Given the description of an element on the screen output the (x, y) to click on. 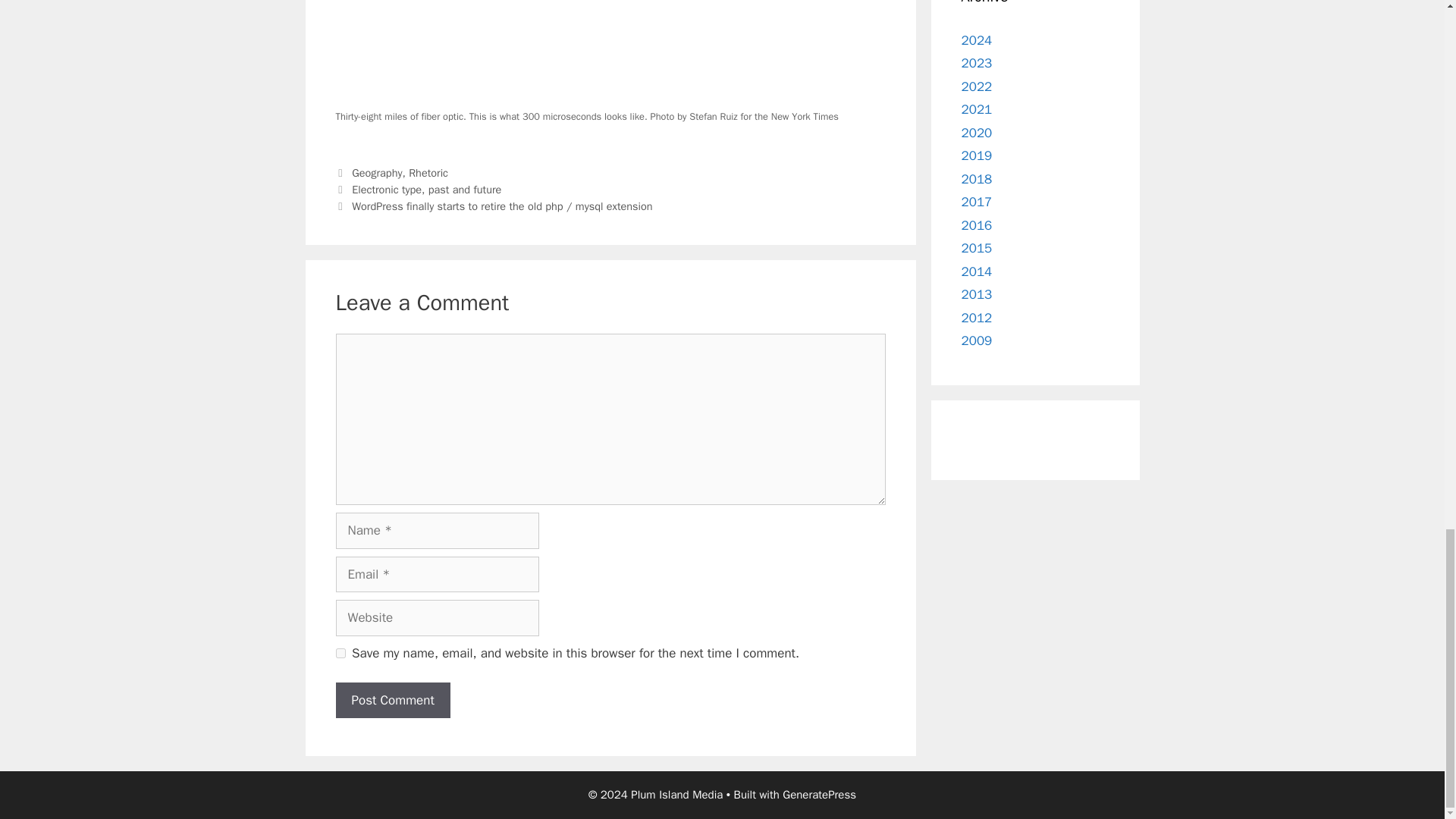
Rhetoric (428, 172)
Post Comment (391, 700)
Geography (376, 172)
yes (339, 653)
Post Comment (391, 700)
Electronic type, past and future (426, 189)
